Given the description of an element on the screen output the (x, y) to click on. 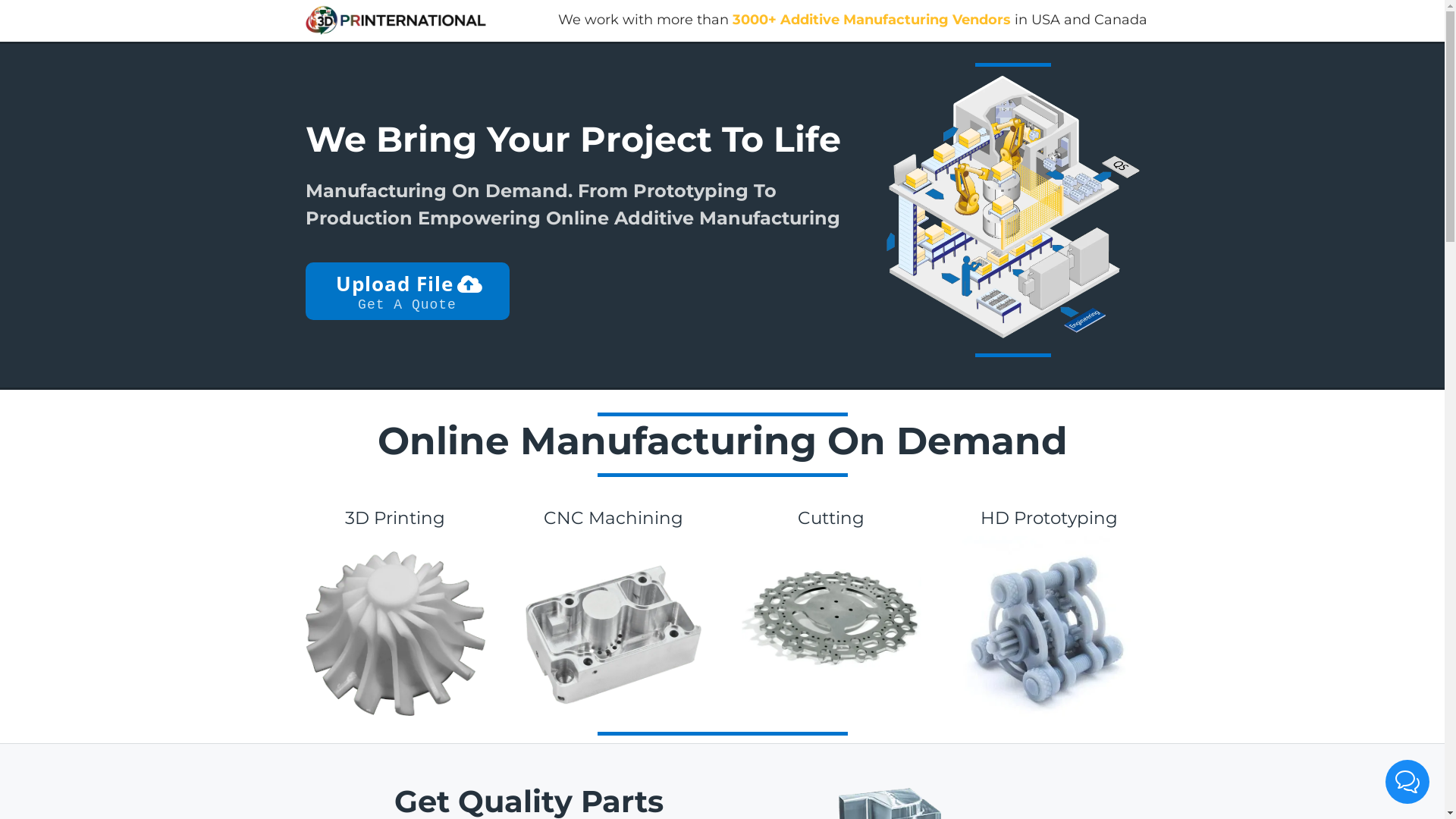
Upload File
Get A Quote Element type: text (406, 291)
